Given the description of an element on the screen output the (x, y) to click on. 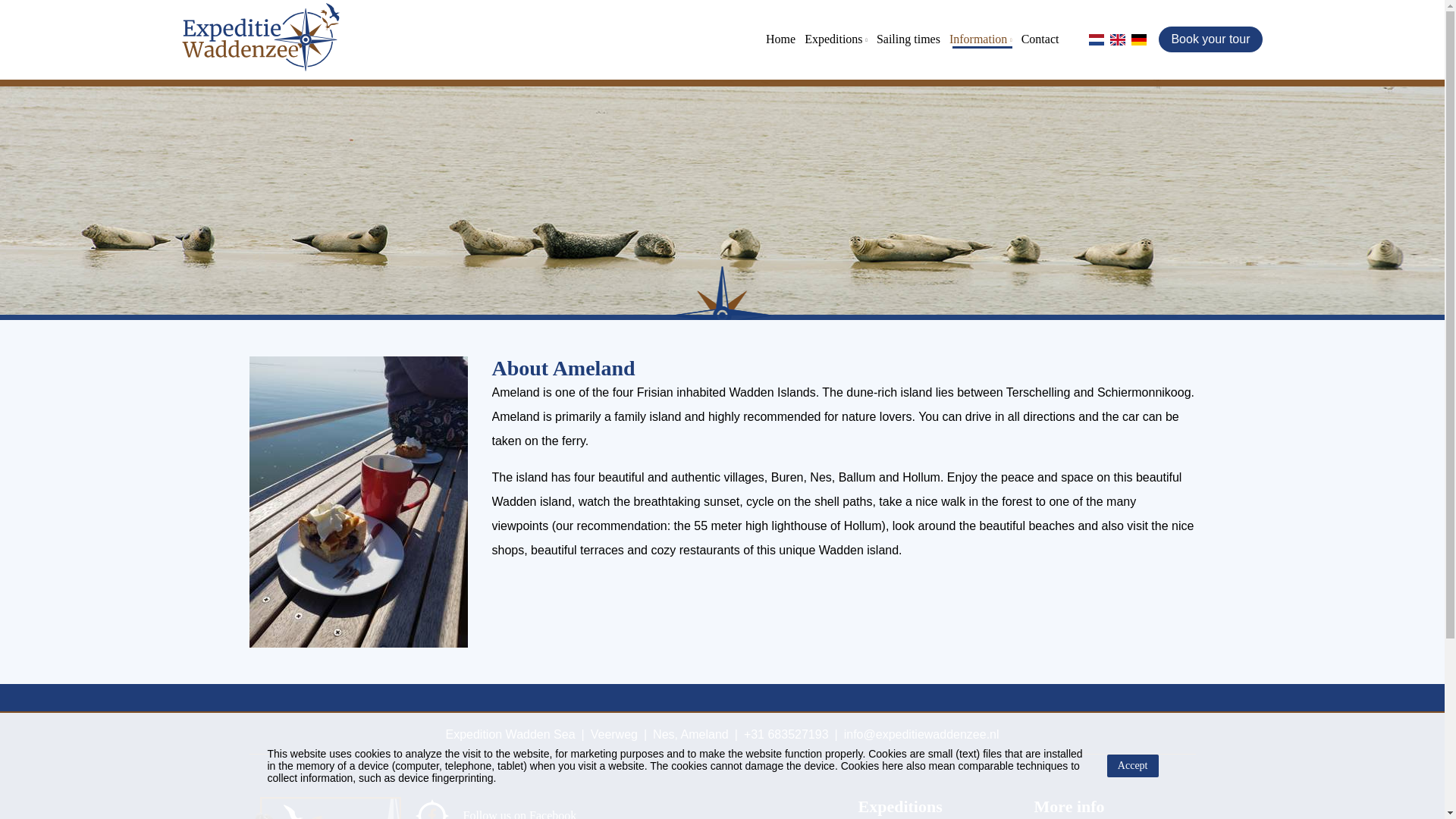
Book your tour (1210, 39)
Expeditions (837, 39)
Sailing times (909, 39)
Follow us on Facebook (513, 807)
Contact (1041, 39)
Information (981, 39)
Home (782, 39)
